Given the description of an element on the screen output the (x, y) to click on. 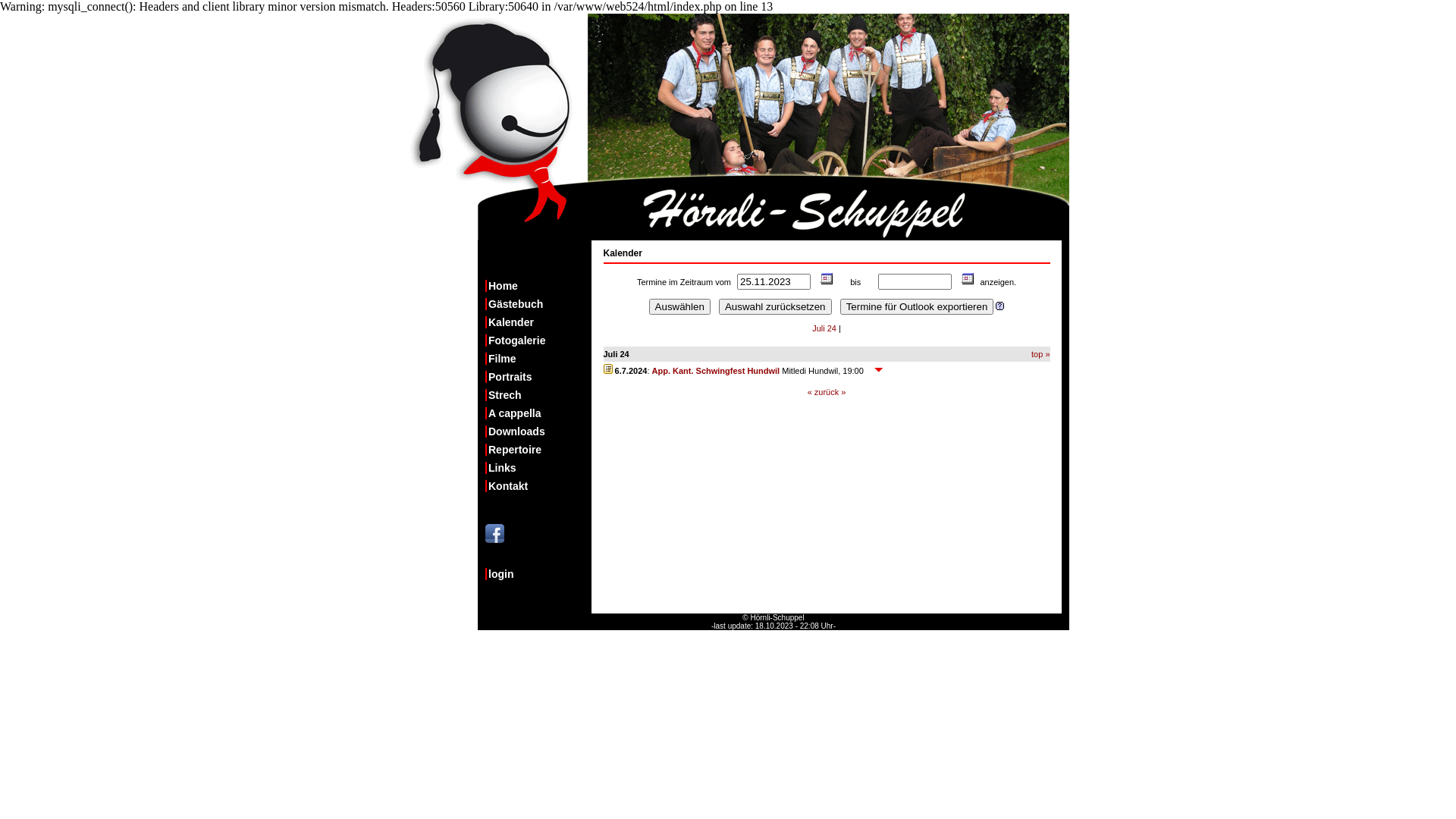
Links Element type: text (538, 467)
Filme Element type: text (538, 358)
Strech Element type: text (538, 395)
Home Element type: text (538, 285)
App. Kant. Schwingfest Hundwil Element type: text (716, 370)
Kalender Element type: hover (963, 281)
Kalender Element type: hover (822, 281)
Fotogalerie Element type: text (538, 340)
login Element type: text (538, 573)
A cappella Element type: text (538, 413)
Portraits Element type: text (538, 376)
Kontakt Element type: text (538, 486)
Kalender Element type: text (538, 322)
Repertoire Element type: text (538, 449)
Juli 24 Element type: text (824, 327)
Downloads Element type: text (538, 431)
